Given the description of an element on the screen output the (x, y) to click on. 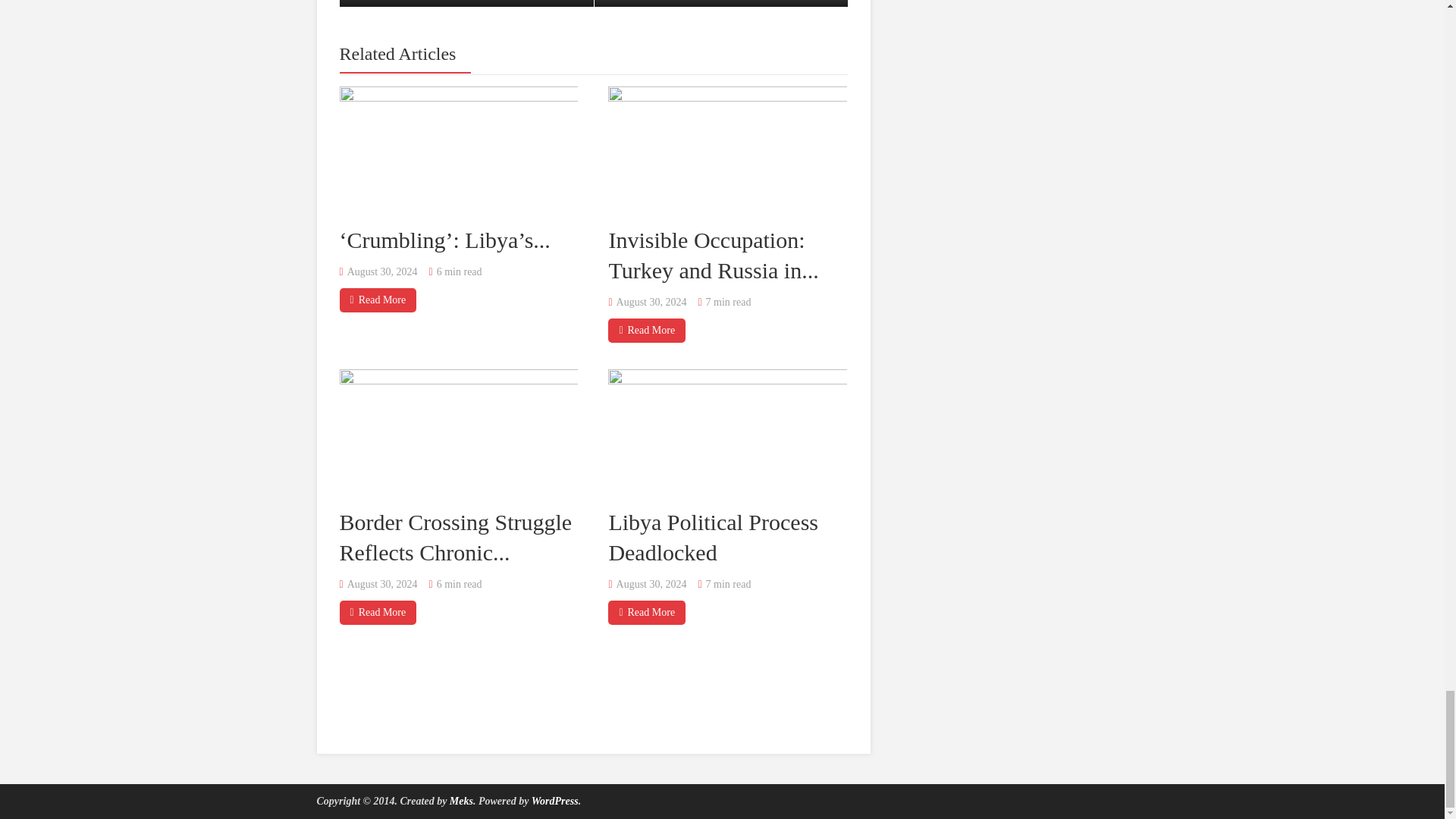
Border Crossing Struggle Reflects Chronic... (720, 3)
Invisible Occupation: Turkey and Russia in... (455, 537)
Read More (713, 253)
Read More (377, 299)
Read More (377, 612)
